Given the description of an element on the screen output the (x, y) to click on. 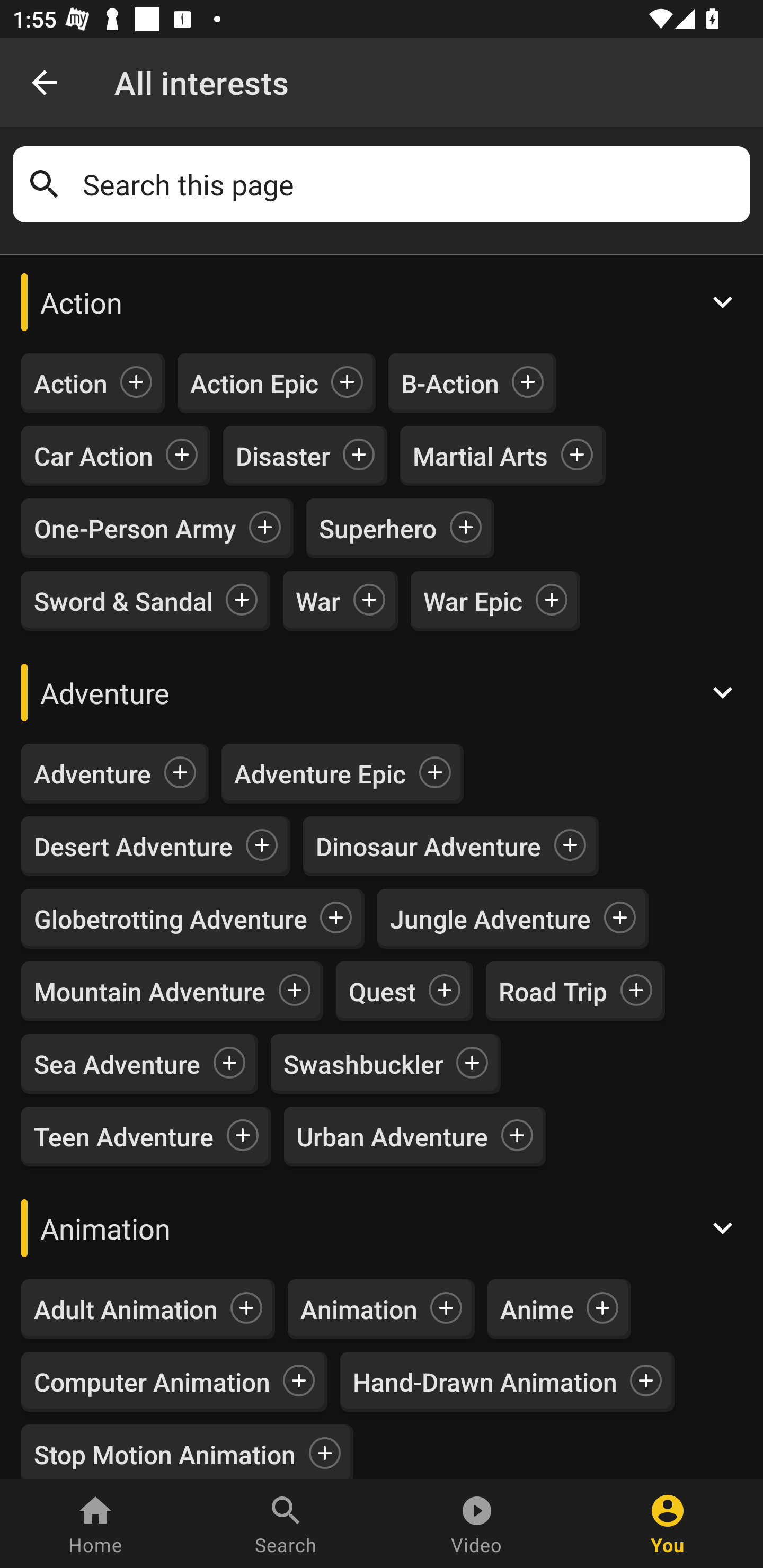
Search this page (410, 184)
Action (381, 301)
Action (70, 382)
Action Epic (254, 382)
B-Action (449, 382)
Car Action (93, 456)
Disaster (282, 456)
Martial Arts (479, 456)
One-Person Army (134, 528)
Superhero (377, 528)
Sword & Sandal (123, 600)
War (318, 600)
War Epic (472, 600)
Adventure (381, 692)
Adventure (92, 772)
Adventure Epic (319, 772)
Desert Adventure (133, 846)
Dinosaur Adventure (427, 846)
Globetrotting Adventure (170, 918)
Jungle Adventure (490, 918)
Mountain Adventure (149, 990)
Quest (381, 990)
Road Trip (553, 990)
Sea Adventure (117, 1063)
Swashbuckler (363, 1063)
Teen Adventure (123, 1136)
Urban Adventure (392, 1136)
Animation (381, 1228)
Adult Animation (125, 1309)
Animation (358, 1309)
Anime (536, 1309)
Computer Animation (152, 1381)
Hand-Drawn Animation (485, 1381)
Stop Motion Animation (165, 1450)
Home (95, 1523)
Search (285, 1523)
Video (476, 1523)
